Given the description of an element on the screen output the (x, y) to click on. 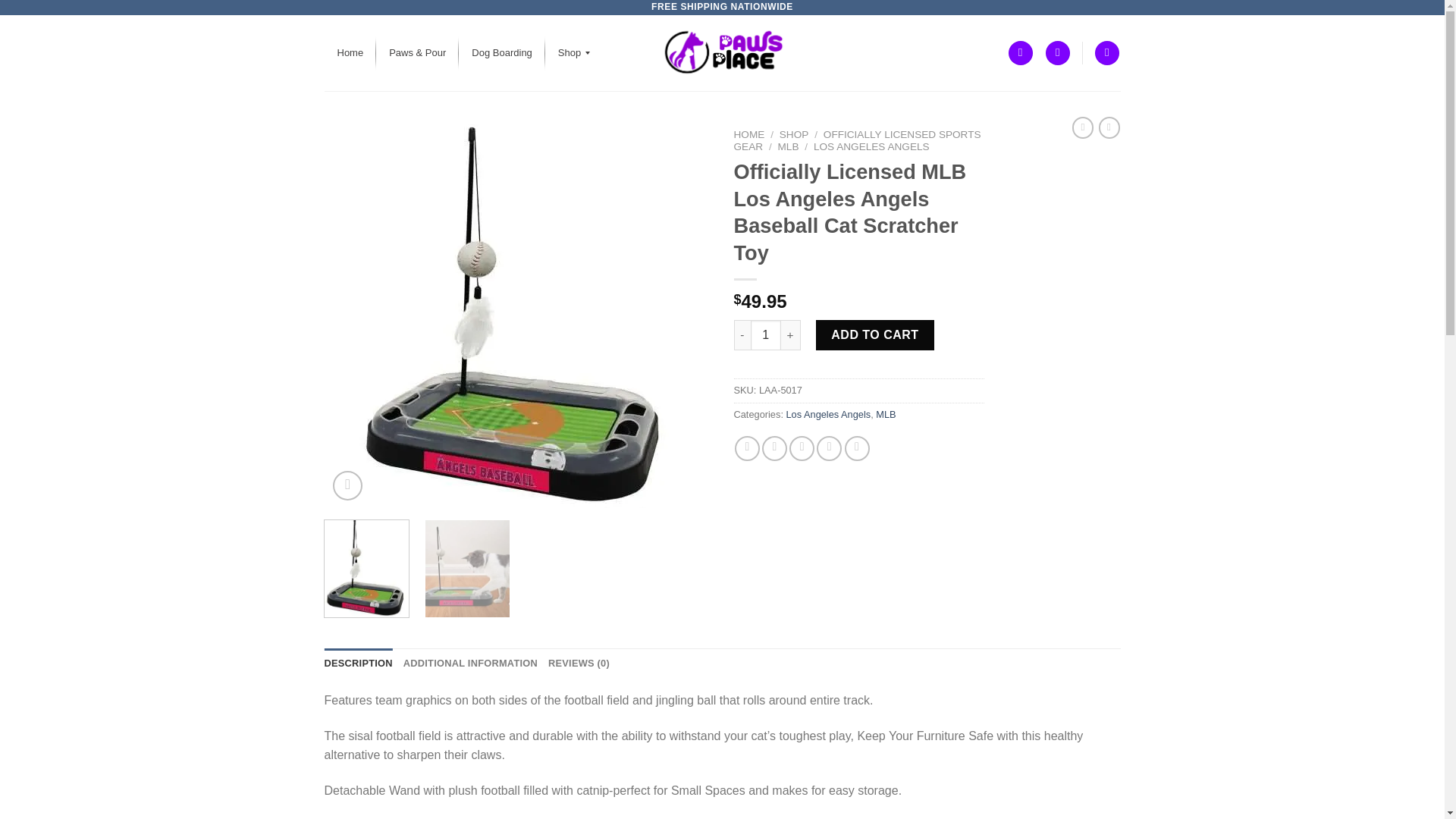
Pin on Pinterest (828, 448)
Zoom (347, 485)
1 (765, 335)
Share on LinkedIn (856, 448)
Shop (569, 53)
Email to a Friend (801, 448)
Share on Twitter (774, 448)
Qty (765, 335)
Dog Boarding (501, 53)
